Given the description of an element on the screen output the (x, y) to click on. 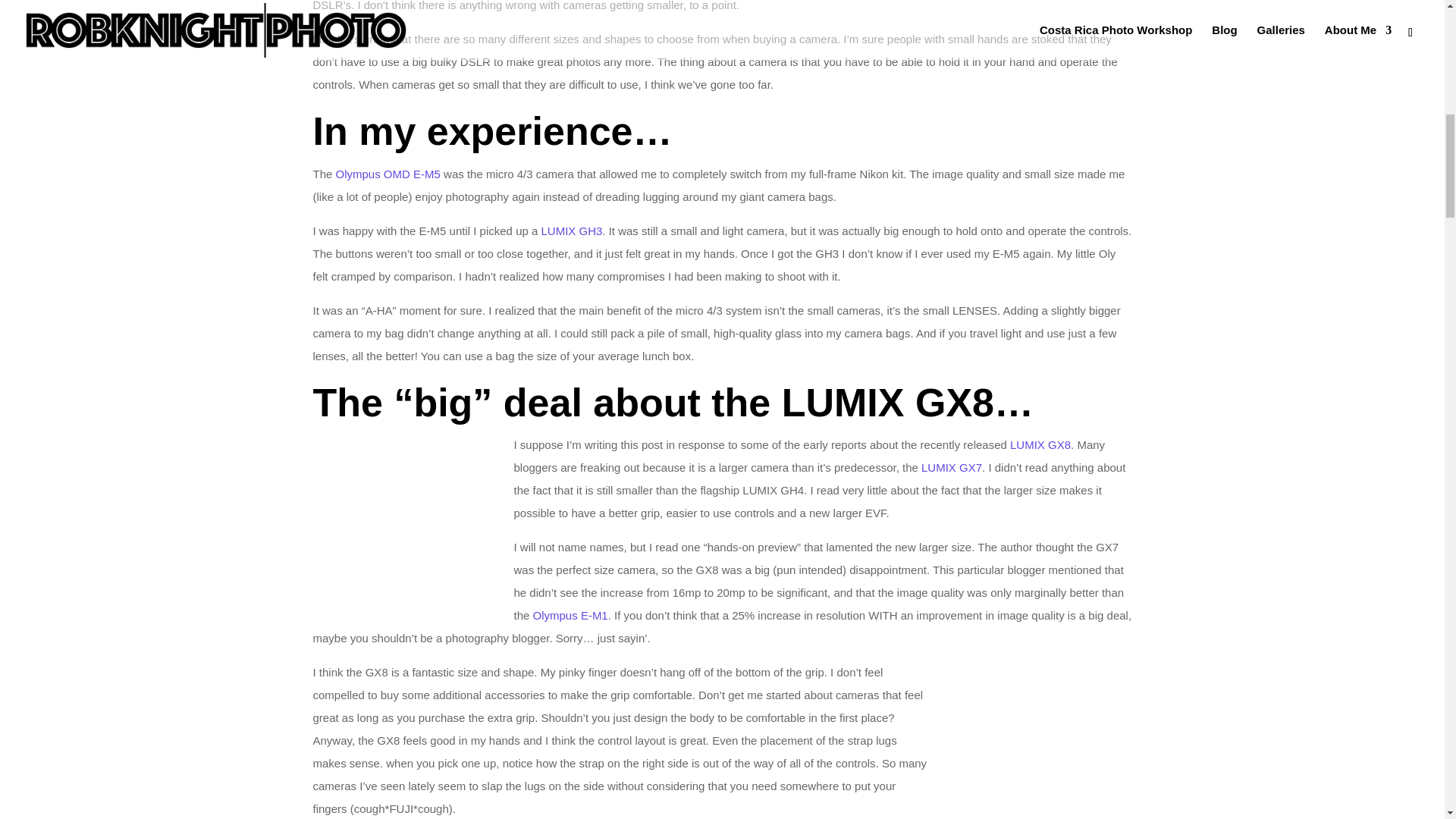
LUMIX GX7 (951, 467)
LUMIX GX8 (1040, 444)
Olympus OMD E-M5 (388, 173)
LUMIX GH3 (571, 230)
Olympus E-M1 (570, 615)
